Given the description of an element on the screen output the (x, y) to click on. 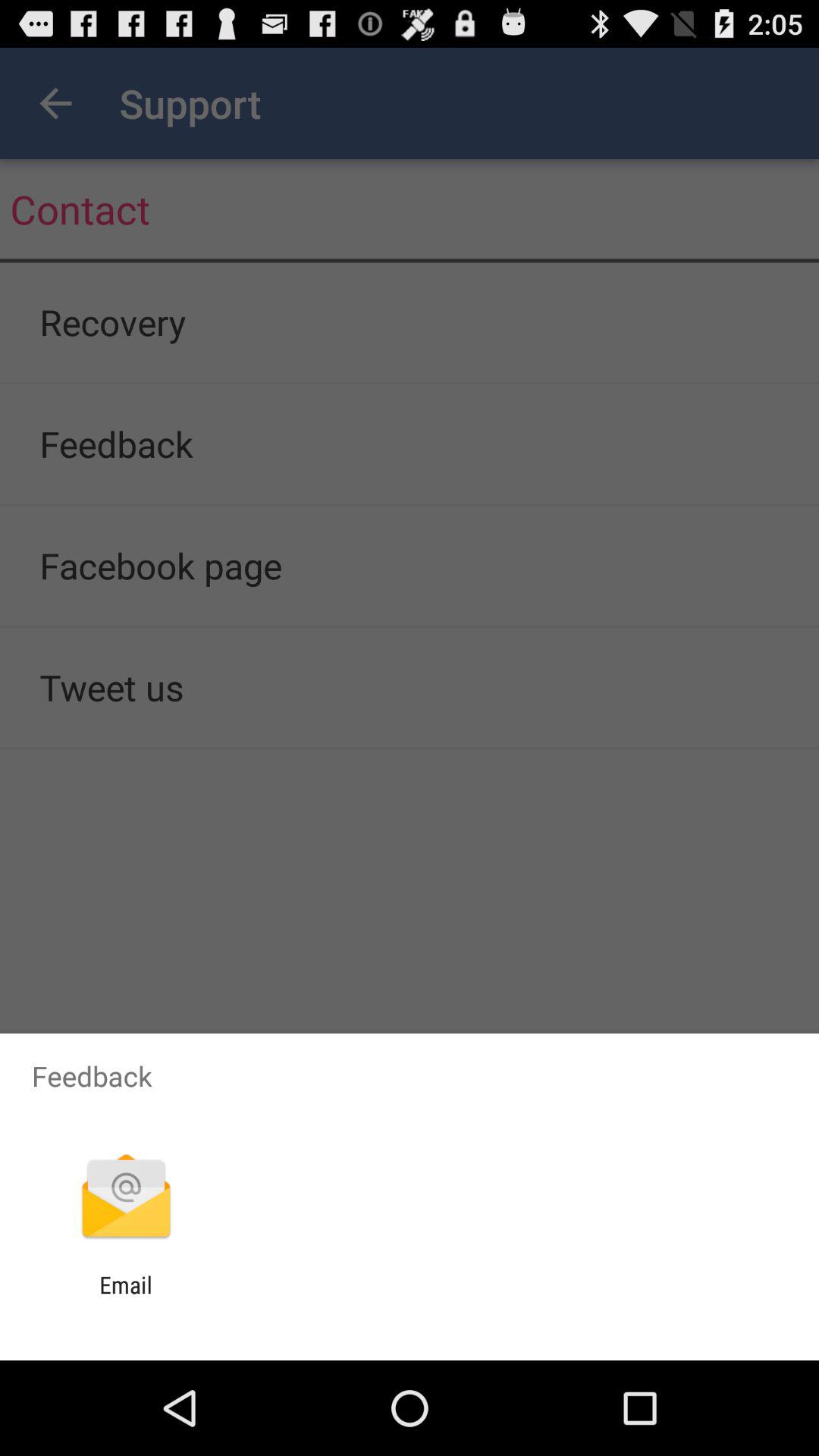
scroll to email icon (125, 1298)
